Given the description of an element on the screen output the (x, y) to click on. 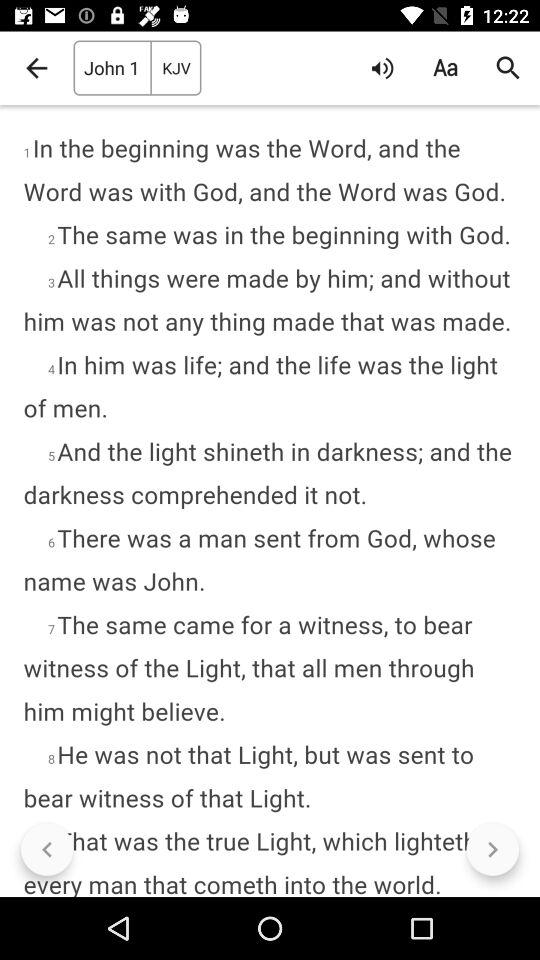
swipe until john 1 icon (111, 67)
